Given the description of an element on the screen output the (x, y) to click on. 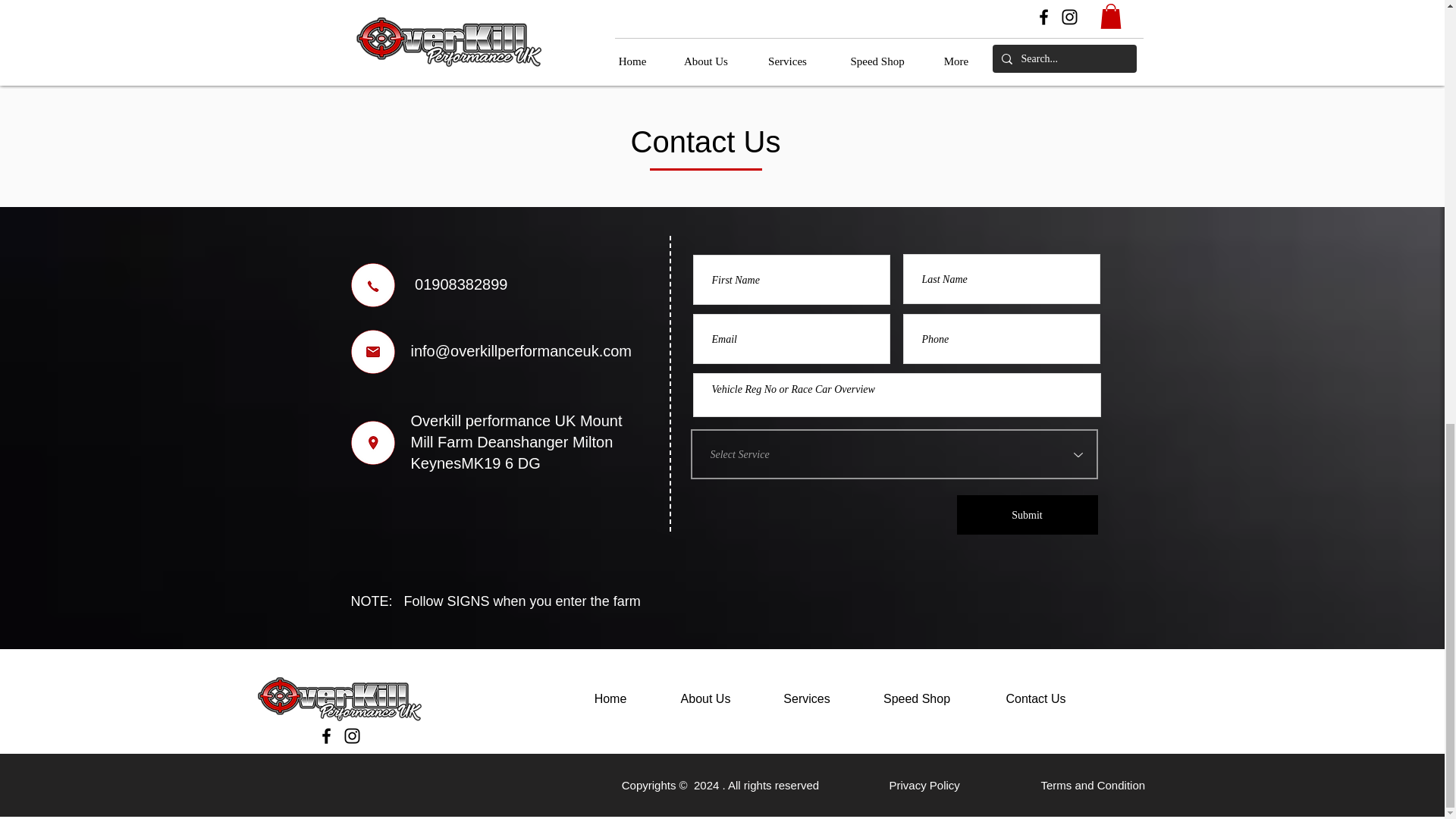
Services (807, 699)
Submit (1026, 514)
Home (609, 699)
About Us (705, 699)
